Given the description of an element on the screen output the (x, y) to click on. 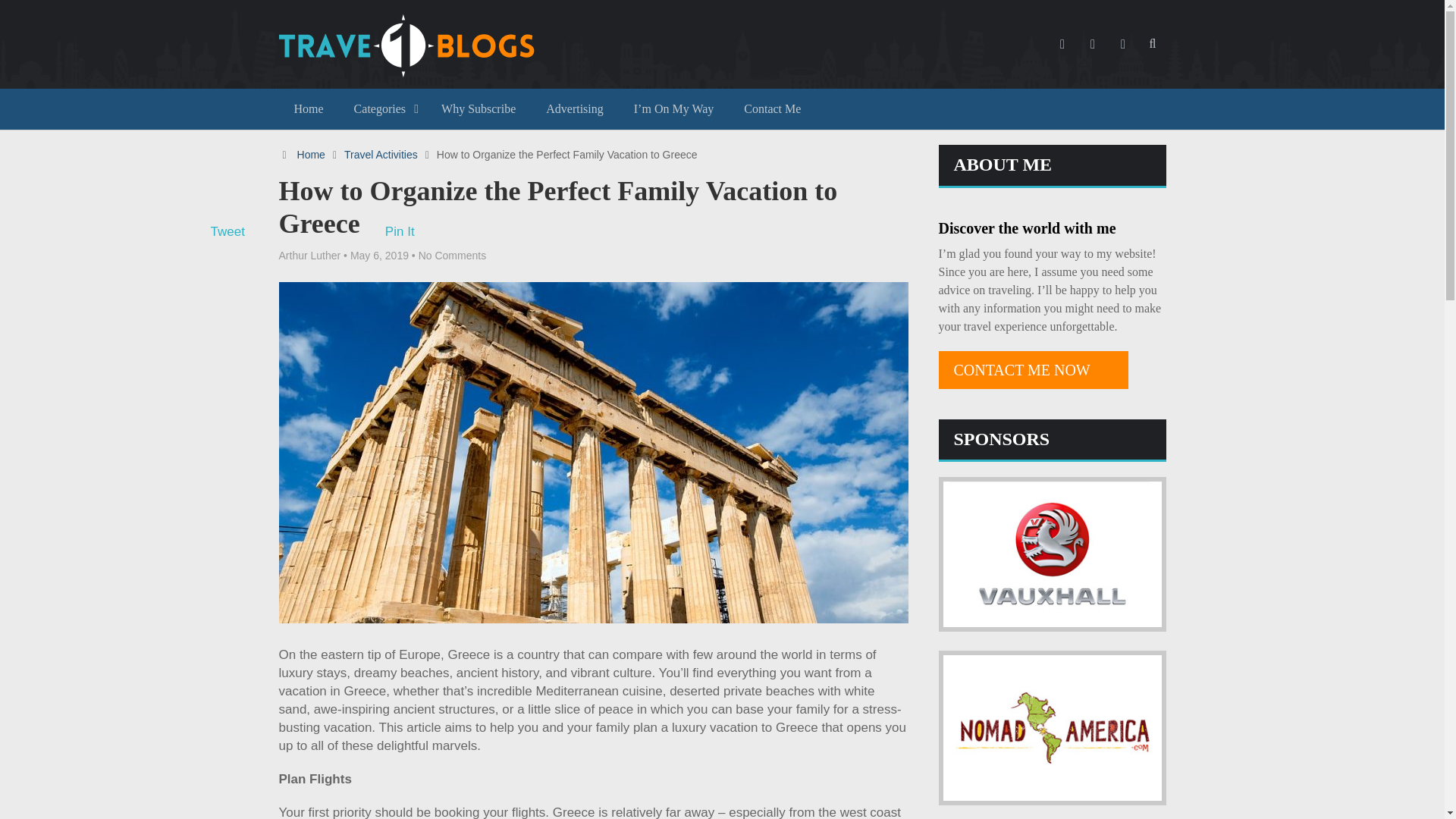
Categories (382, 108)
Travel Activities (380, 154)
Pin It (399, 231)
Tweet (227, 231)
Advertising (574, 108)
Why Subscribe (478, 108)
Contact Me (772, 108)
Posts by Arthur Luther (309, 255)
Arthur Luther (309, 255)
Home (309, 108)
